Given the description of an element on the screen output the (x, y) to click on. 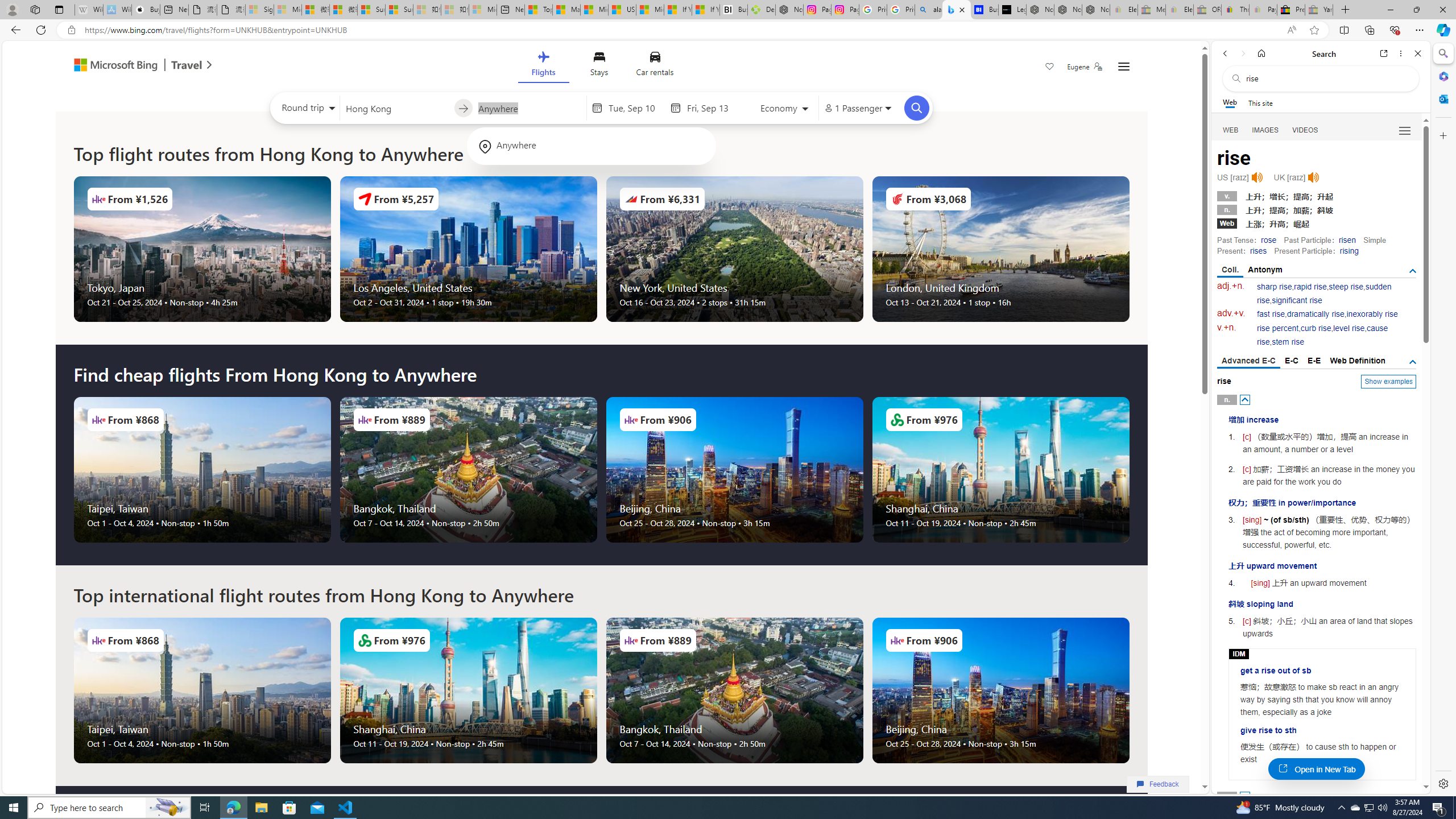
fast rise (1270, 313)
Flights (542, 65)
Start Date (636, 107)
Class: autosuggest-container full-height no-y-padding (528, 107)
level rise (1349, 328)
rose (1268, 239)
risen (1347, 239)
E-E (1314, 360)
Class: msft-bing-logo msft-bing-logo-desktop (112, 64)
to (462, 108)
